Given the description of an element on the screen output the (x, y) to click on. 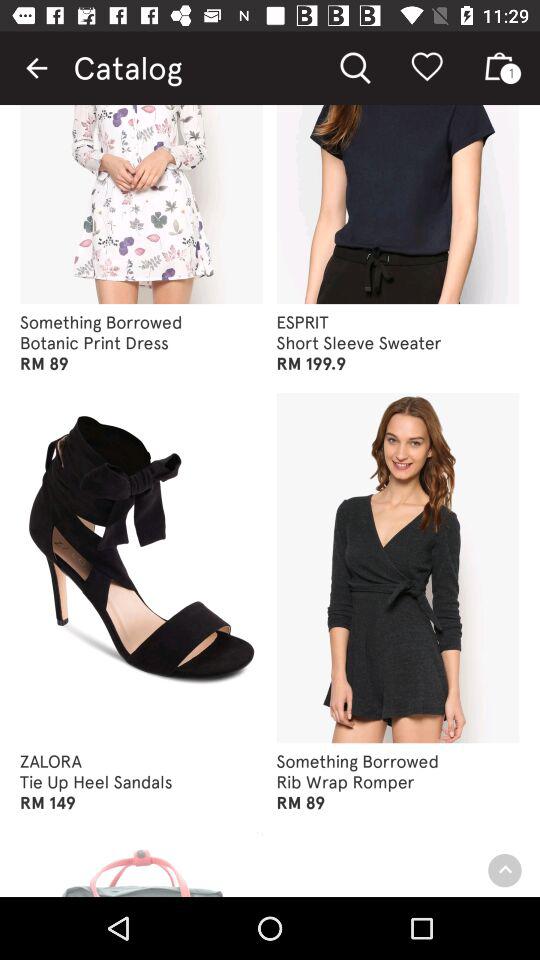
click the item next to catalog icon (36, 68)
